Given the description of an element on the screen output the (x, y) to click on. 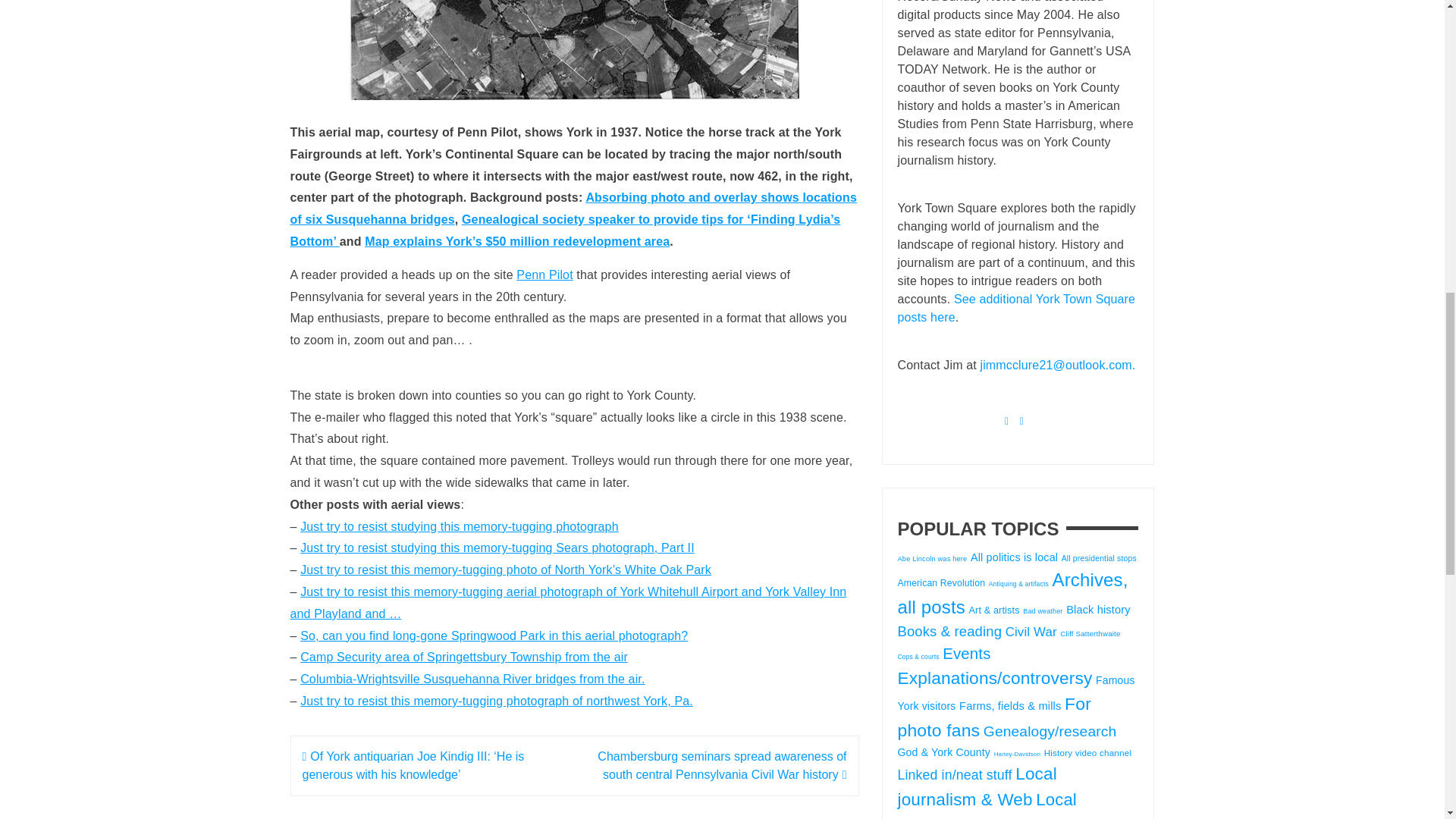
Just try to resist studying this memory-tugging photograph (458, 526)
Penn Pilot (544, 274)
Camp Security area of Springettsbury Township from the air (463, 656)
